Given the description of an element on the screen output the (x, y) to click on. 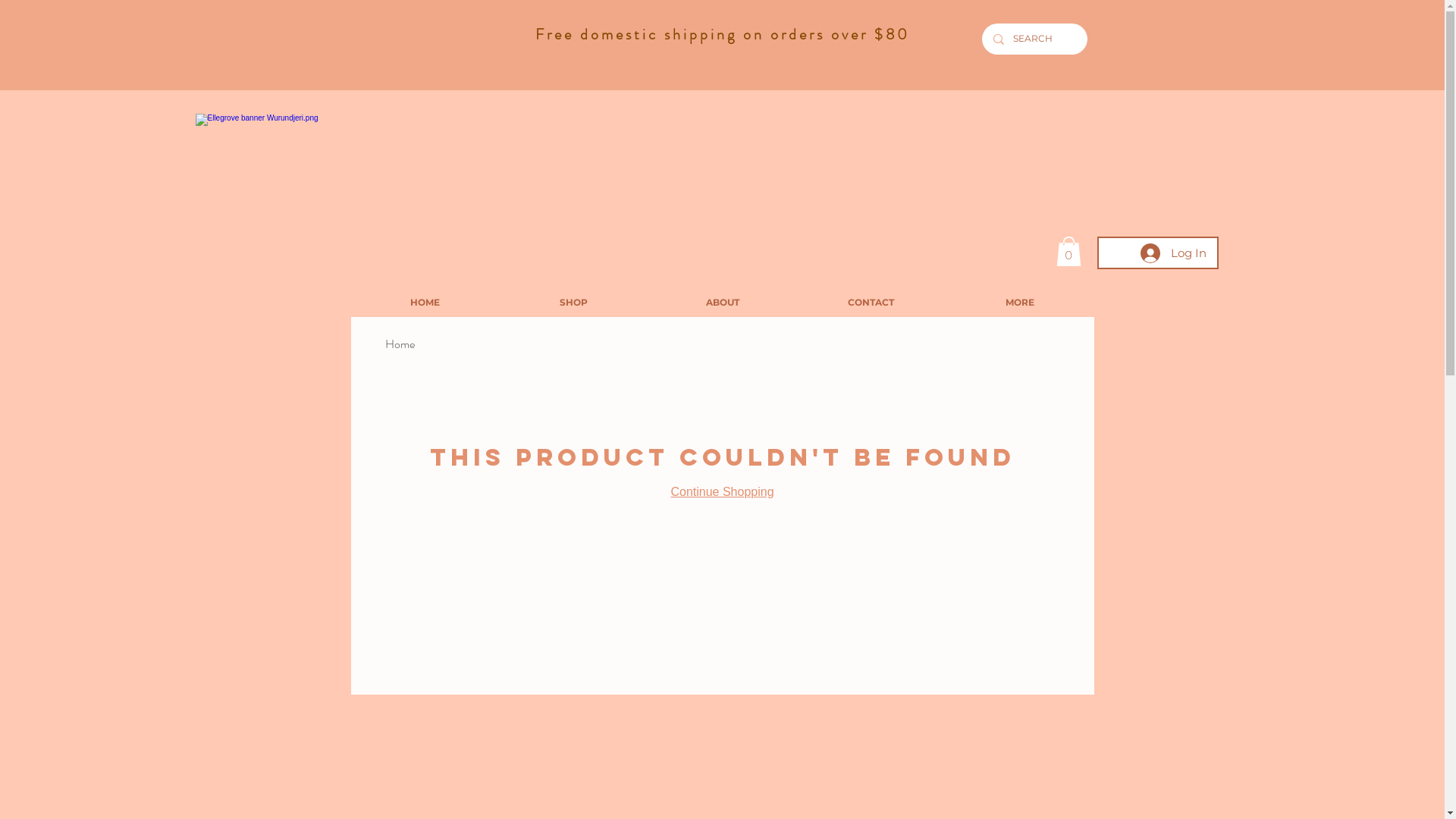
ABOUT Element type: text (721, 301)
SHOP Element type: text (572, 301)
HOME Element type: text (424, 301)
CONTACT Element type: text (870, 301)
Log In Element type: text (1173, 252)
Continue Shopping Element type: text (721, 491)
0 Element type: text (1067, 251)
Home Element type: text (399, 343)
